Given the description of an element on the screen output the (x, y) to click on. 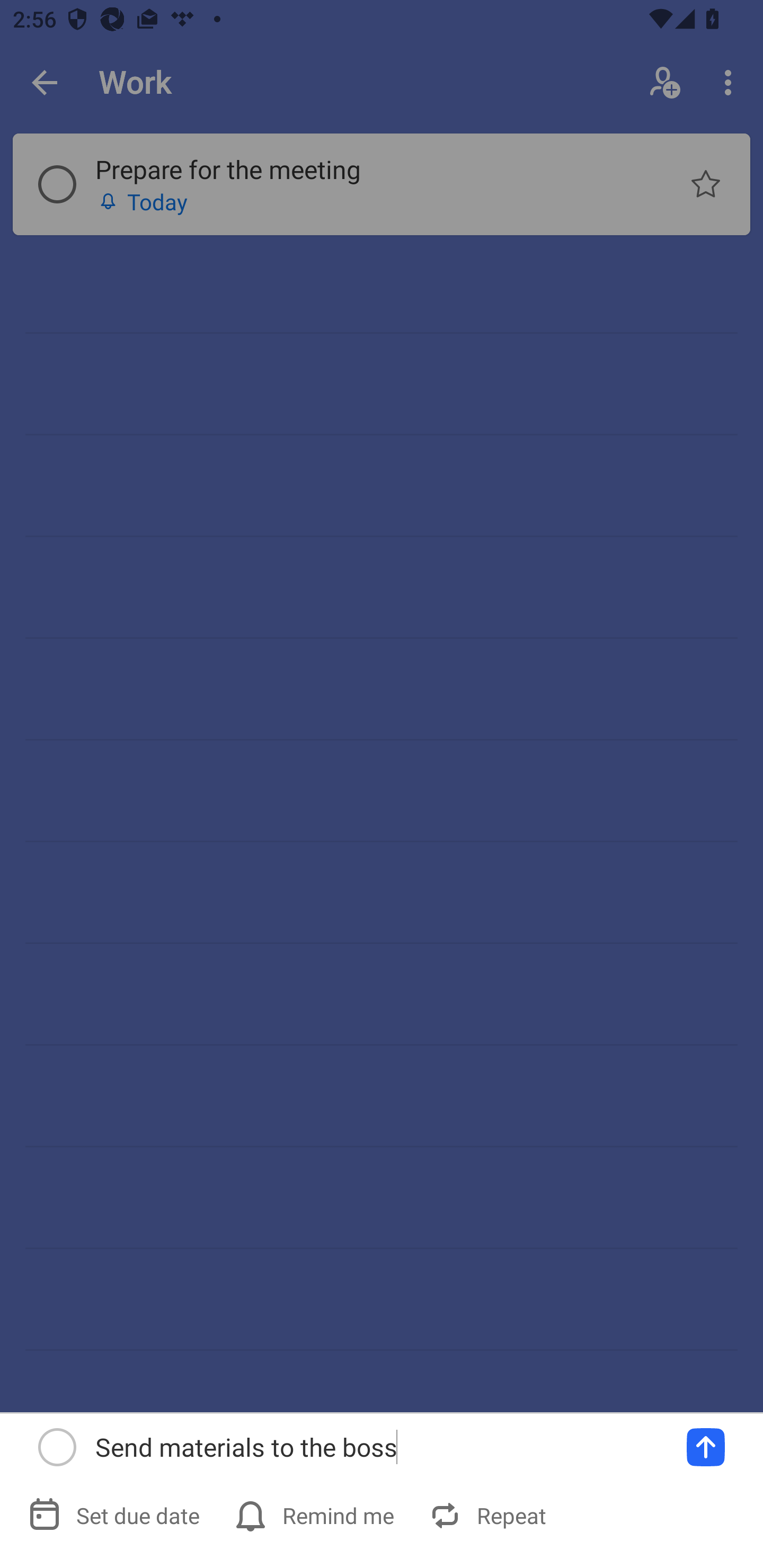
Set due date (115, 1515)
